Given the description of an element on the screen output the (x, y) to click on. 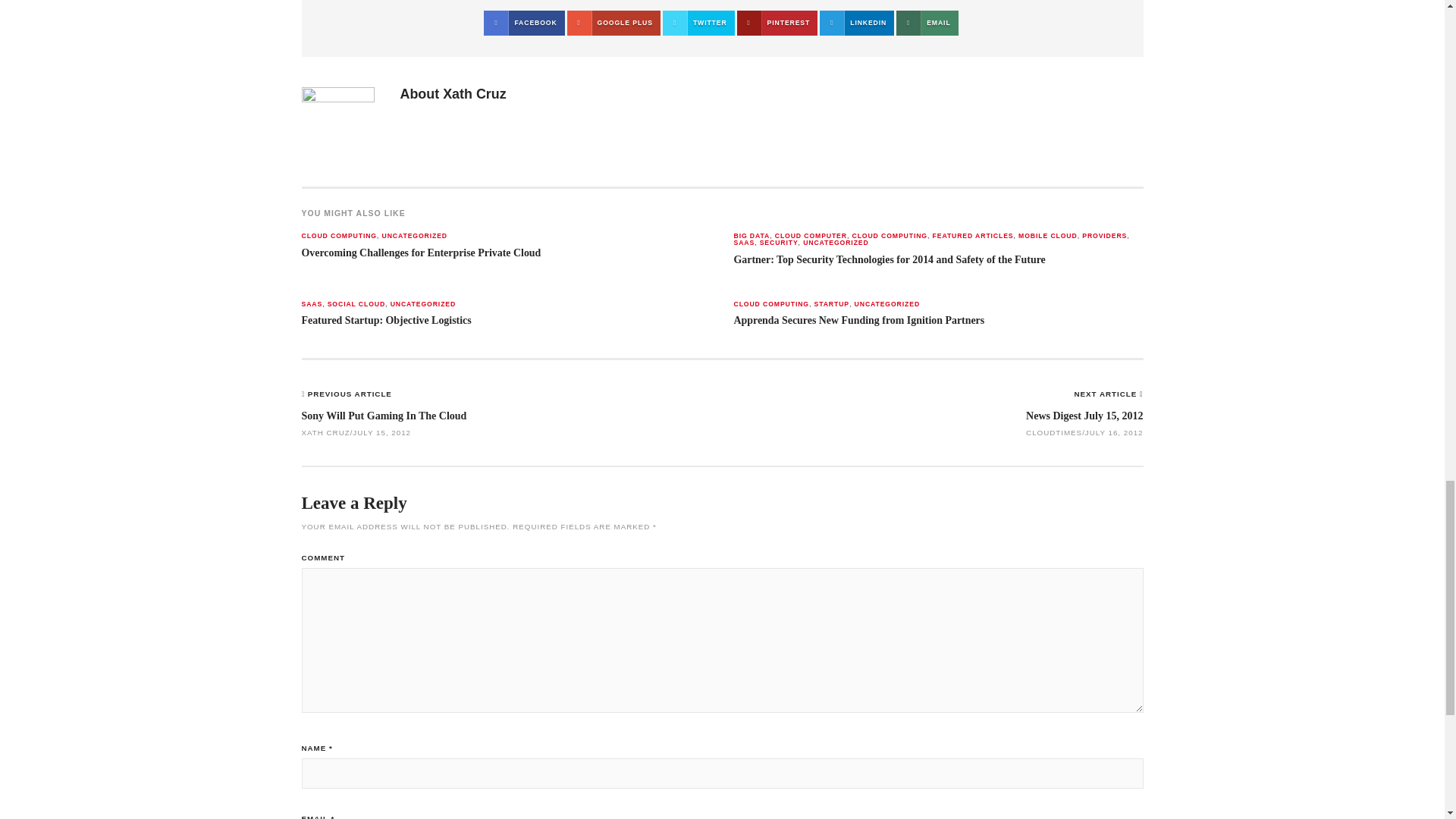
Posts by Xath Cruz (474, 93)
